Given the description of an element on the screen output the (x, y) to click on. 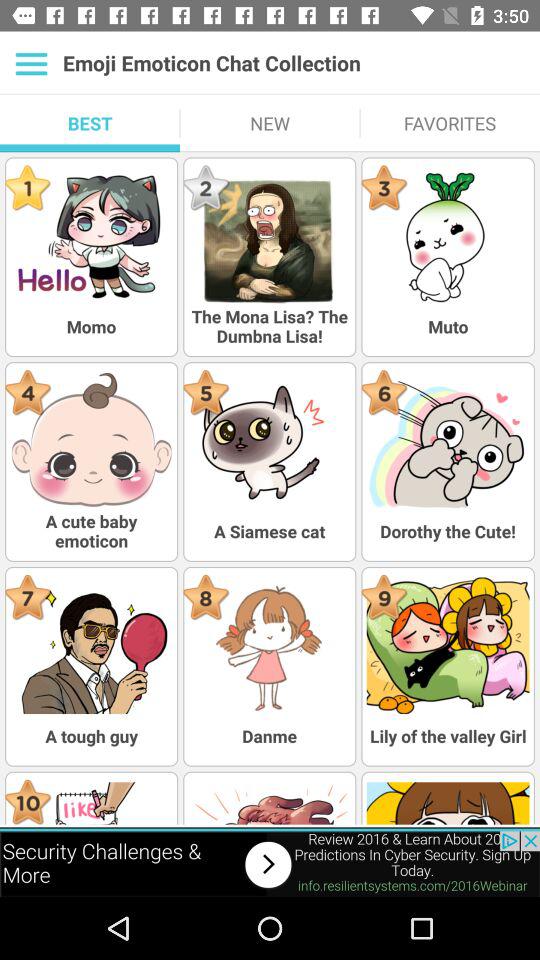
open menu (31, 63)
